Given the description of an element on the screen output the (x, y) to click on. 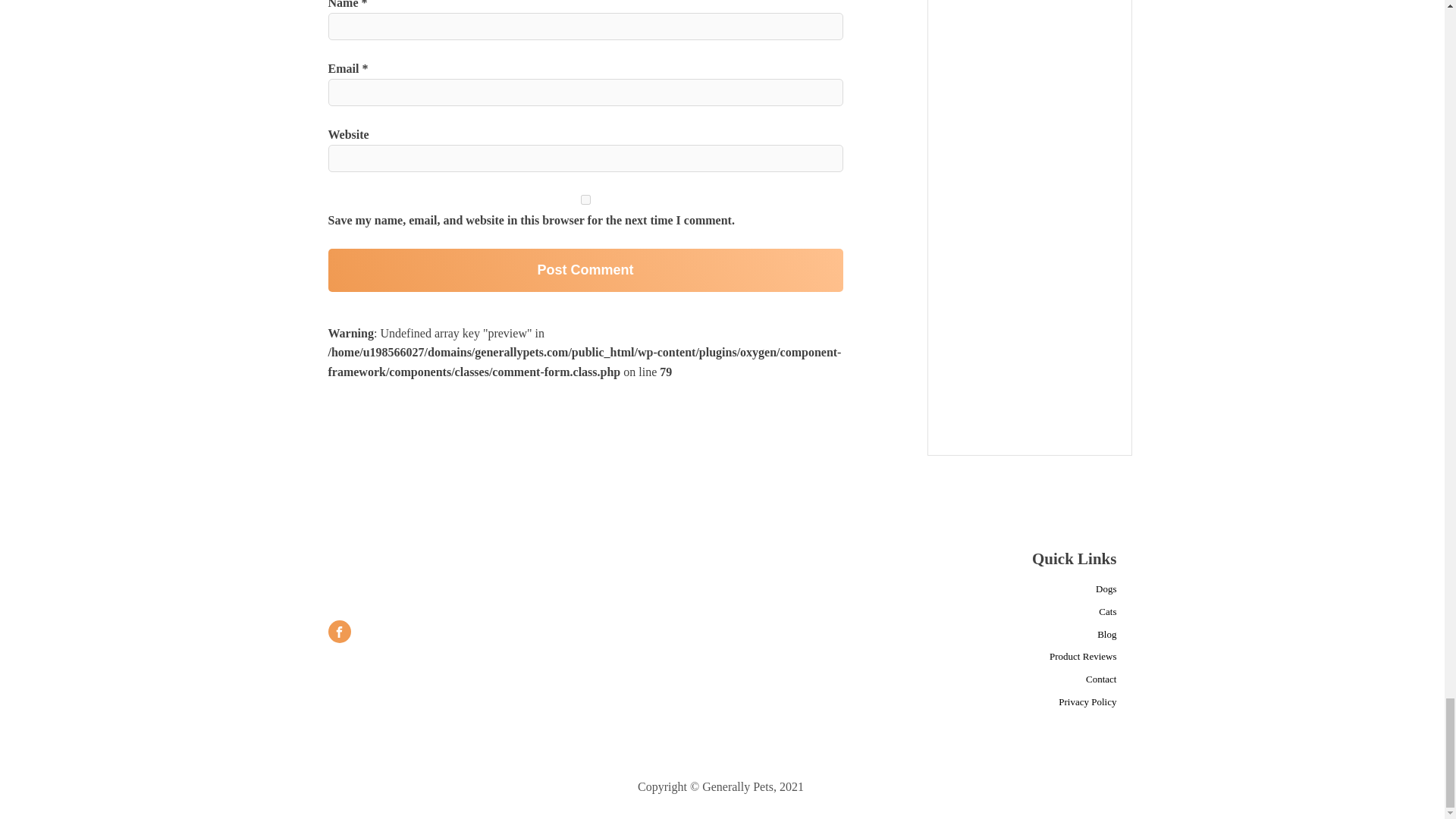
Post Comment (585, 269)
Privacy Policy (1087, 702)
Contact (1101, 679)
Product Reviews (1082, 657)
Dogs (1106, 589)
Post Comment (585, 269)
yes (585, 199)
Cats (1107, 611)
Blog (1106, 634)
